Given the description of an element on the screen output the (x, y) to click on. 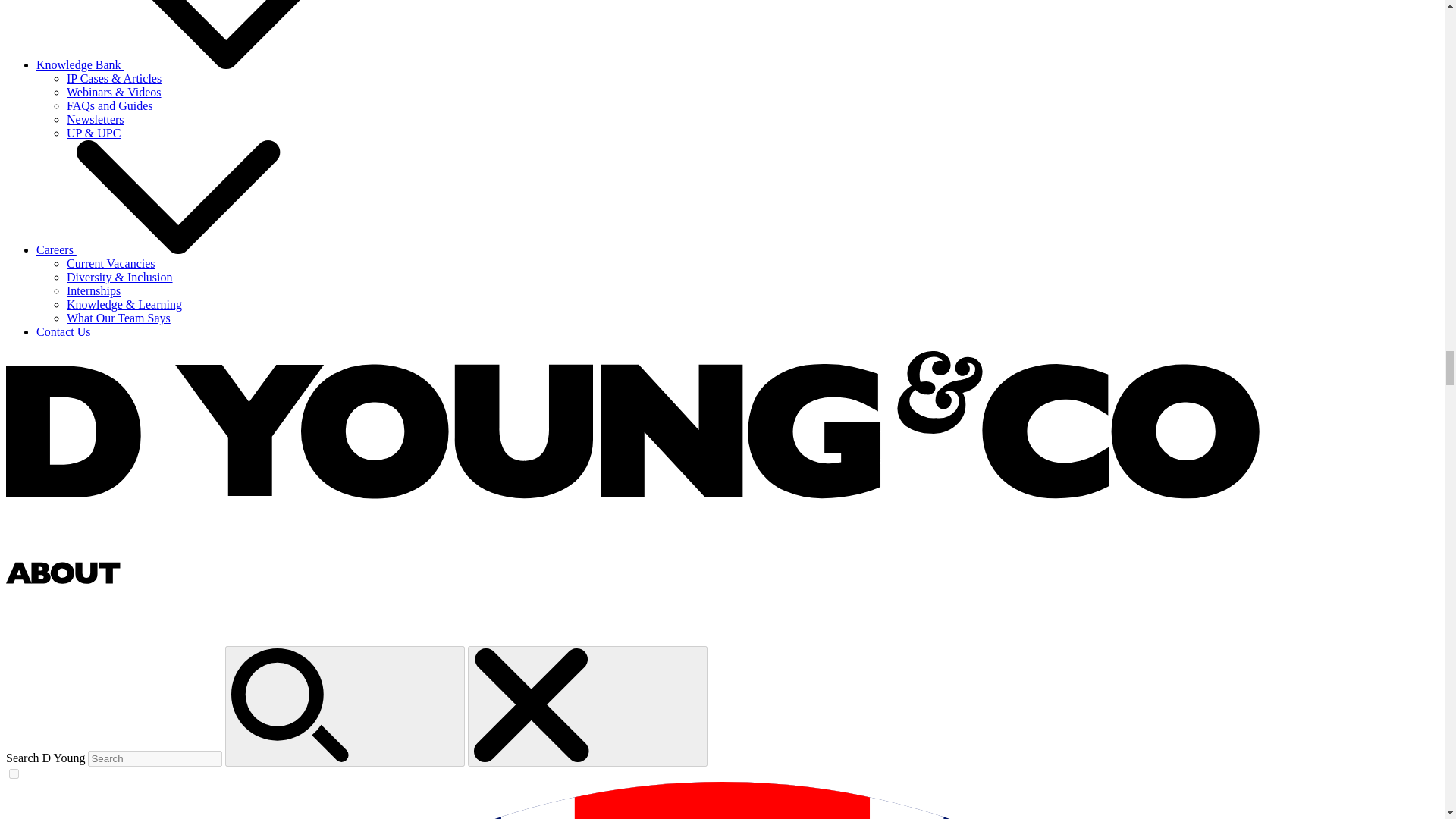
on (13, 773)
